Given the description of an element on the screen output the (x, y) to click on. 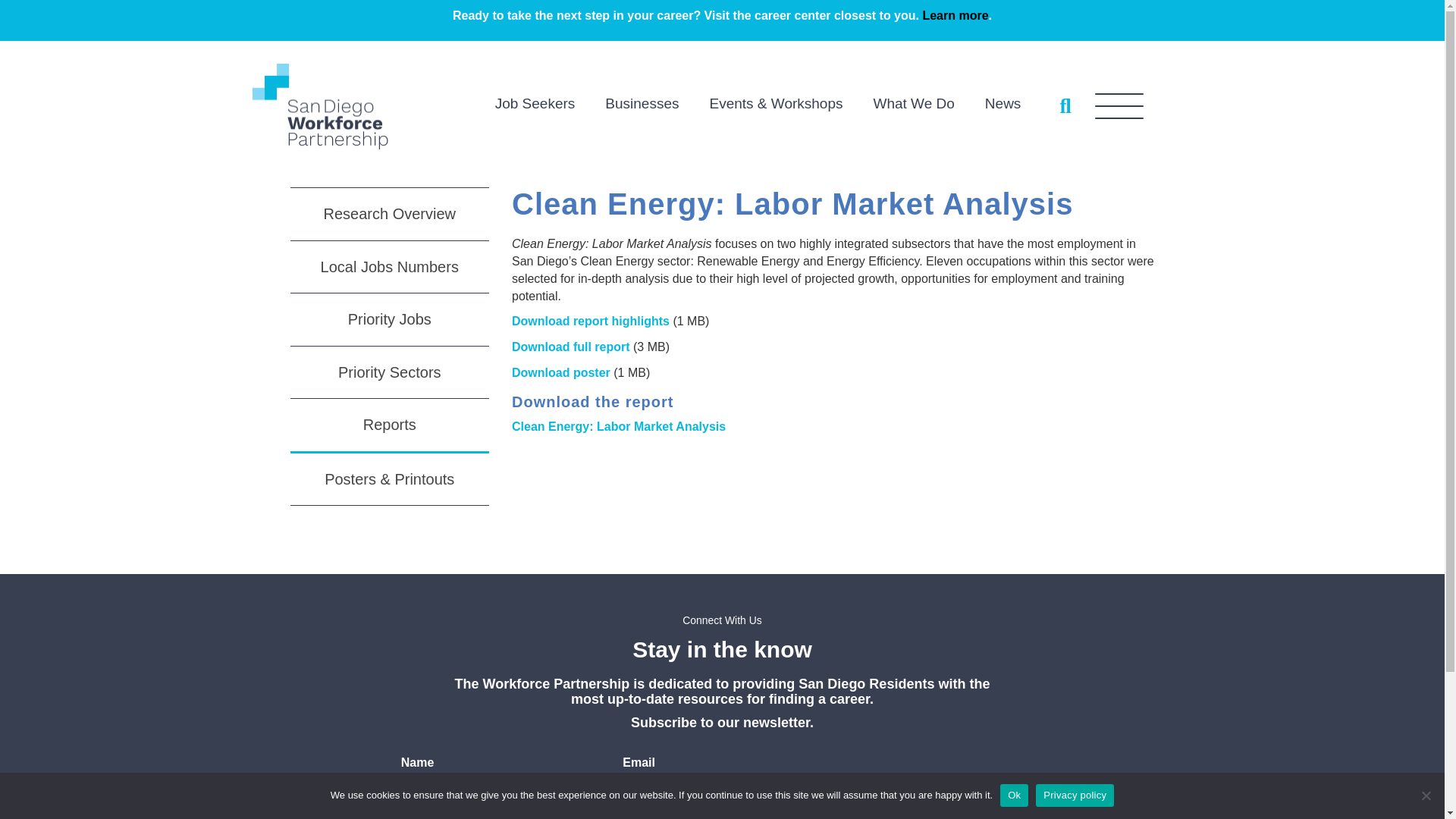
Download report highlights (590, 320)
Download poster (561, 372)
Local Jobs Numbers (389, 267)
Priority Jobs (389, 319)
Clean Energy: Labor Market Analysis (618, 426)
Businesses (640, 104)
Reports (389, 425)
Toggle navigation (1119, 106)
Job Seekers (535, 104)
Download full report (571, 346)
Priority Sectors (389, 372)
Research Overview (389, 214)
Learn more (954, 15)
No (1425, 795)
News (1002, 104)
